Given the description of an element on the screen output the (x, y) to click on. 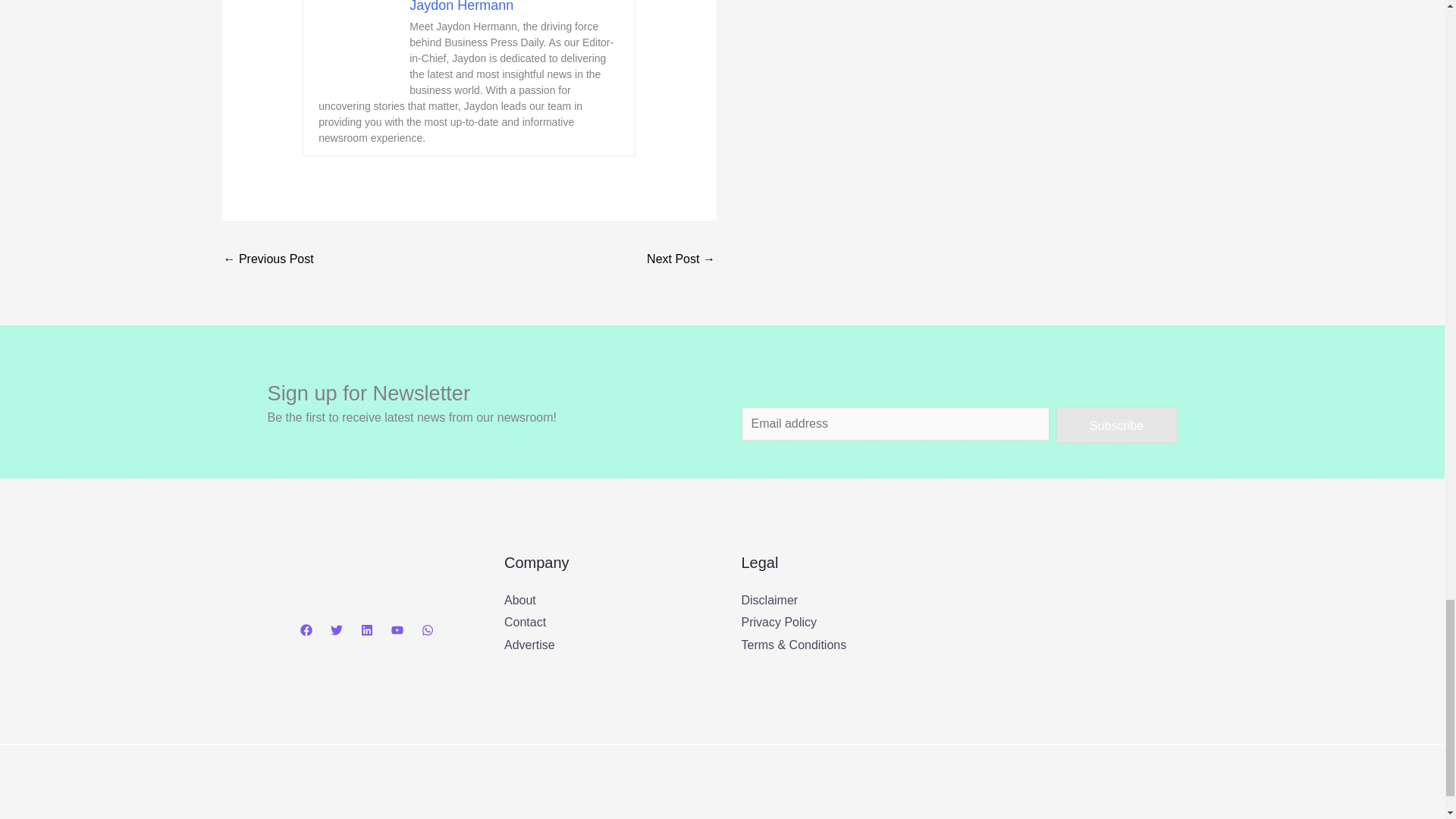
Subscribe (1115, 425)
Business Press Daily (1072, 626)
Disclaimer (769, 599)
About (519, 599)
Jaydon Hermann (461, 6)
Contact (524, 621)
Advertise (528, 644)
